Given the description of an element on the screen output the (x, y) to click on. 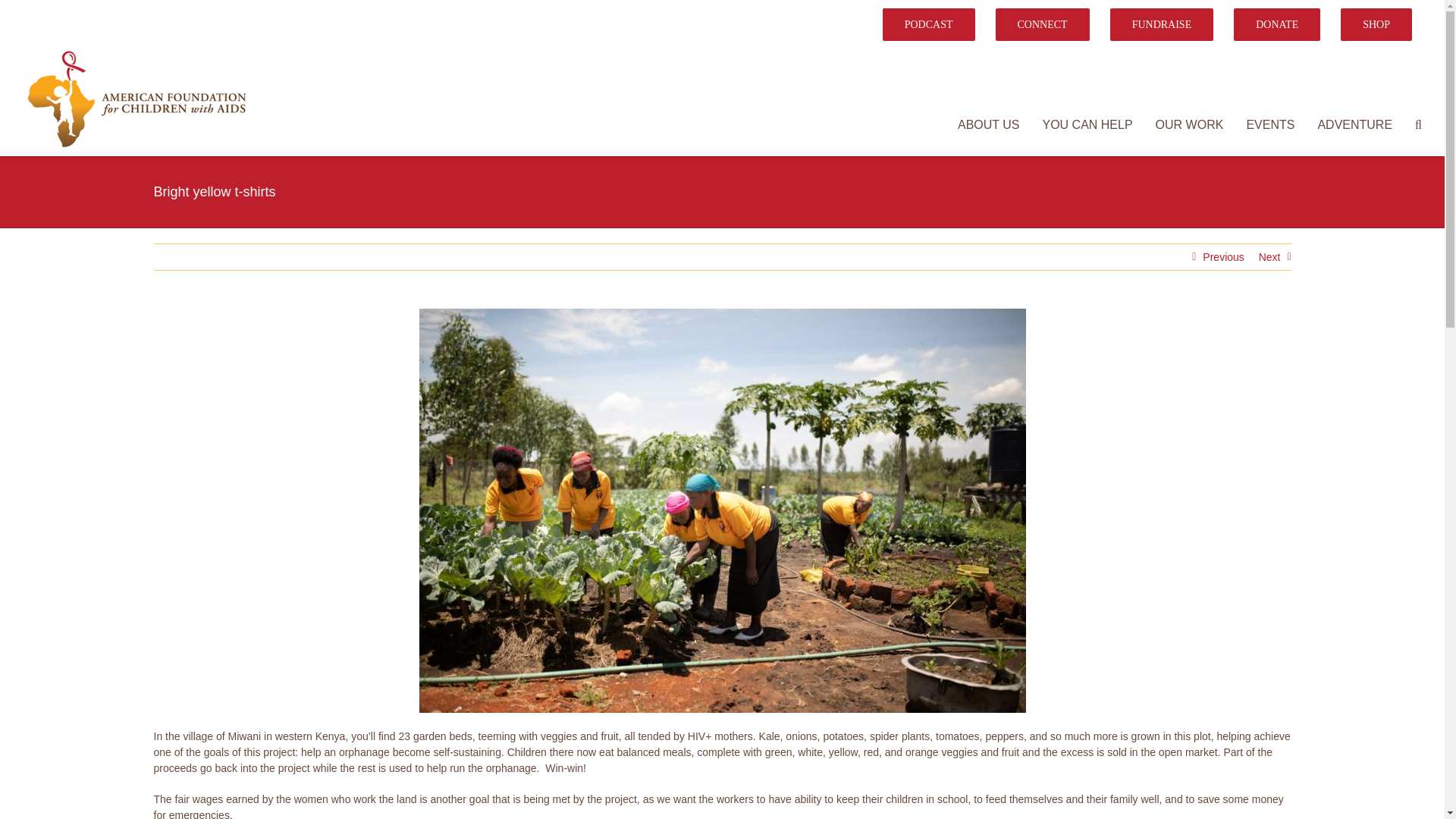
Search (1418, 125)
ABOUT US (989, 125)
PODCAST (928, 24)
FUNDRAISE (1162, 24)
DONATE (1277, 24)
SHOP (1376, 24)
CONNECT (1042, 24)
